Given the description of an element on the screen output the (x, y) to click on. 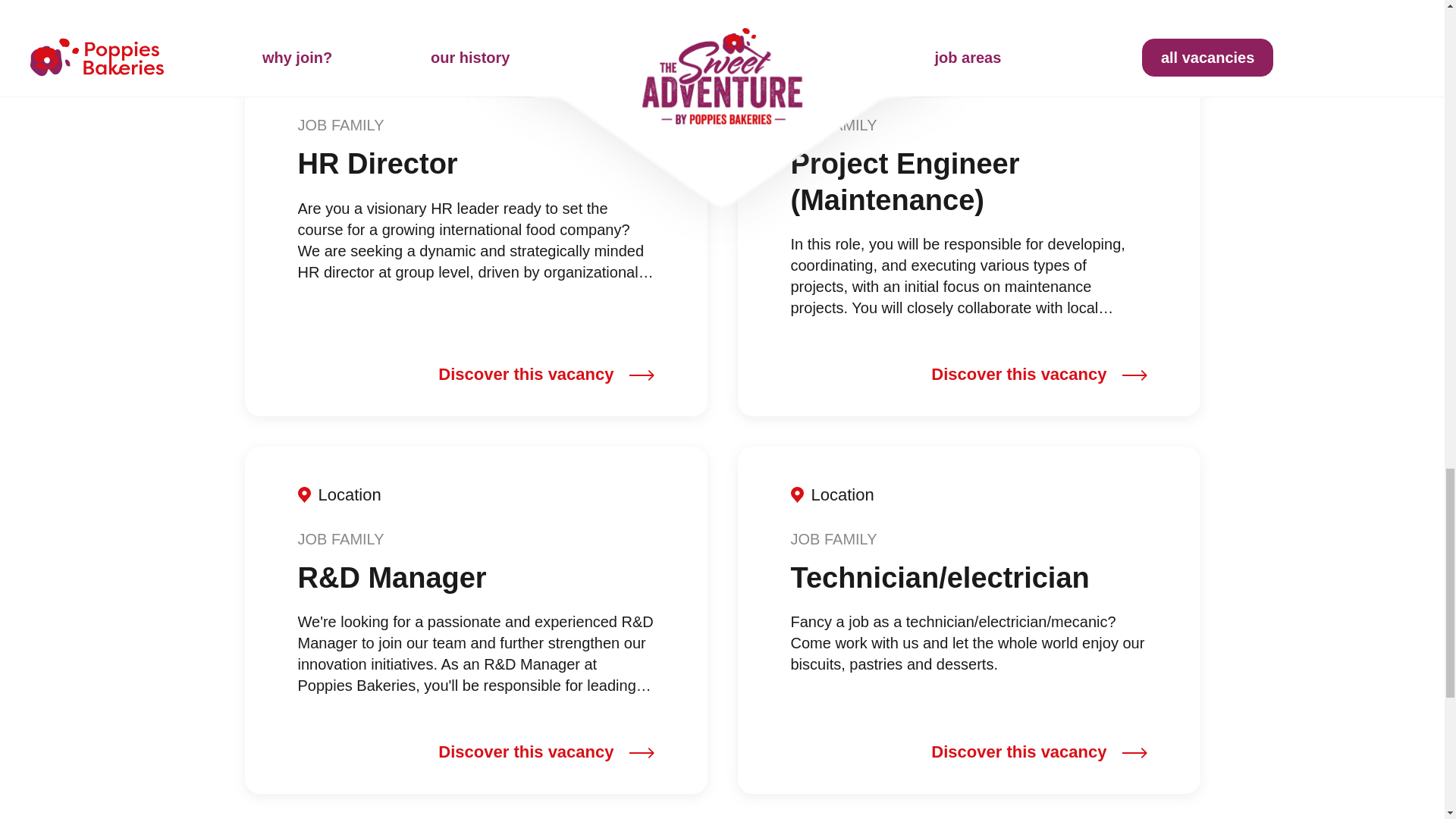
Discover this vacancy (545, 752)
Discover this vacancy (545, 374)
Discover this vacancy (1039, 752)
Discover this vacancy (1039, 374)
